Given the description of an element on the screen output the (x, y) to click on. 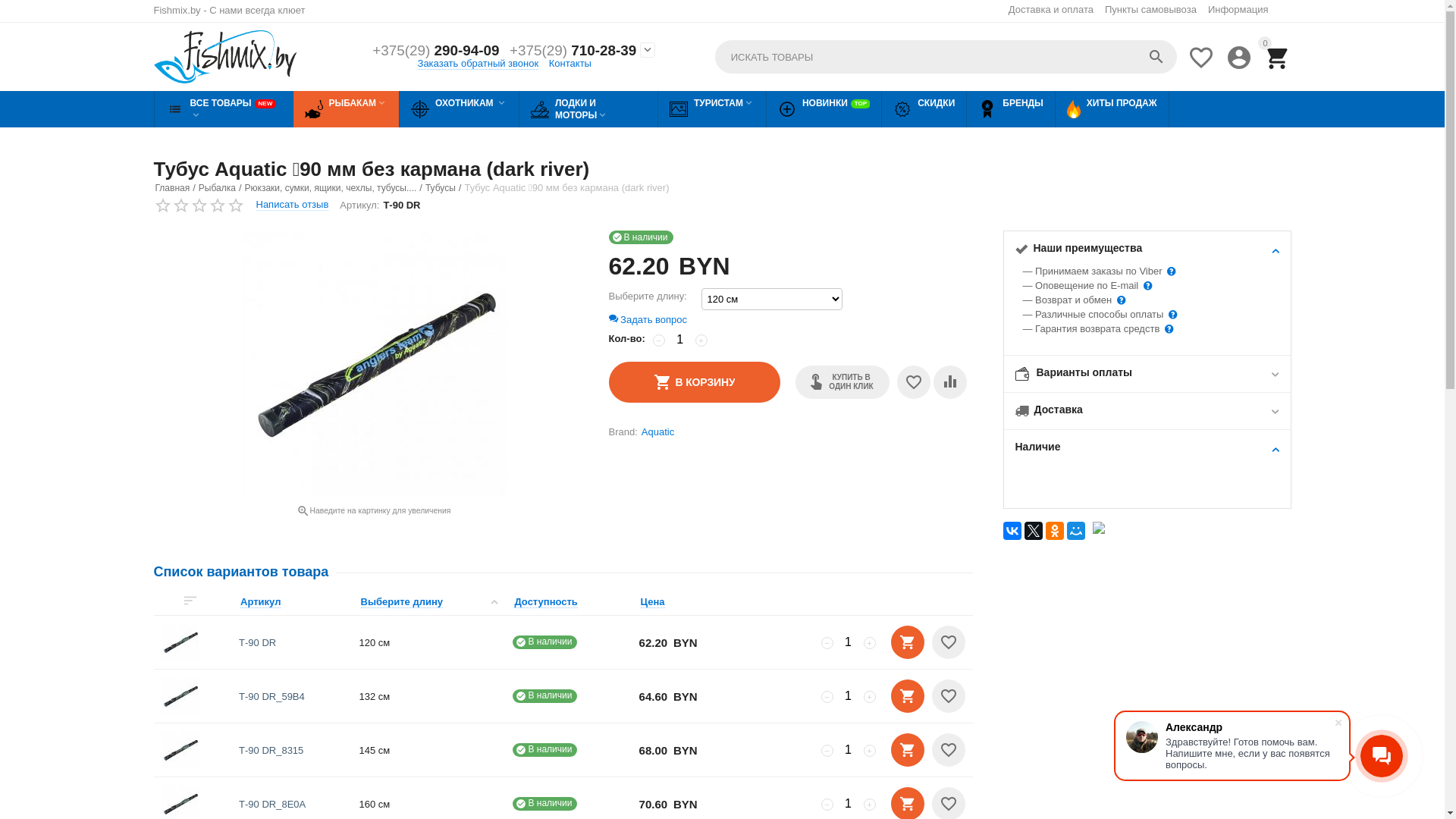
BrandAquatic Element type: text (790, 431)
+ Element type: text (868, 696)
+ Element type: text (701, 340)
+ Element type: text (868, 804)
+375(29) 710-28-39 Element type: text (572, 50)
Twitter Element type: hover (1032, 530)
+ Element type: text (868, 643)
+ Element type: text (868, 750)
+375(29) 290-94-09 Element type: text (435, 50)
